Given the description of an element on the screen output the (x, y) to click on. 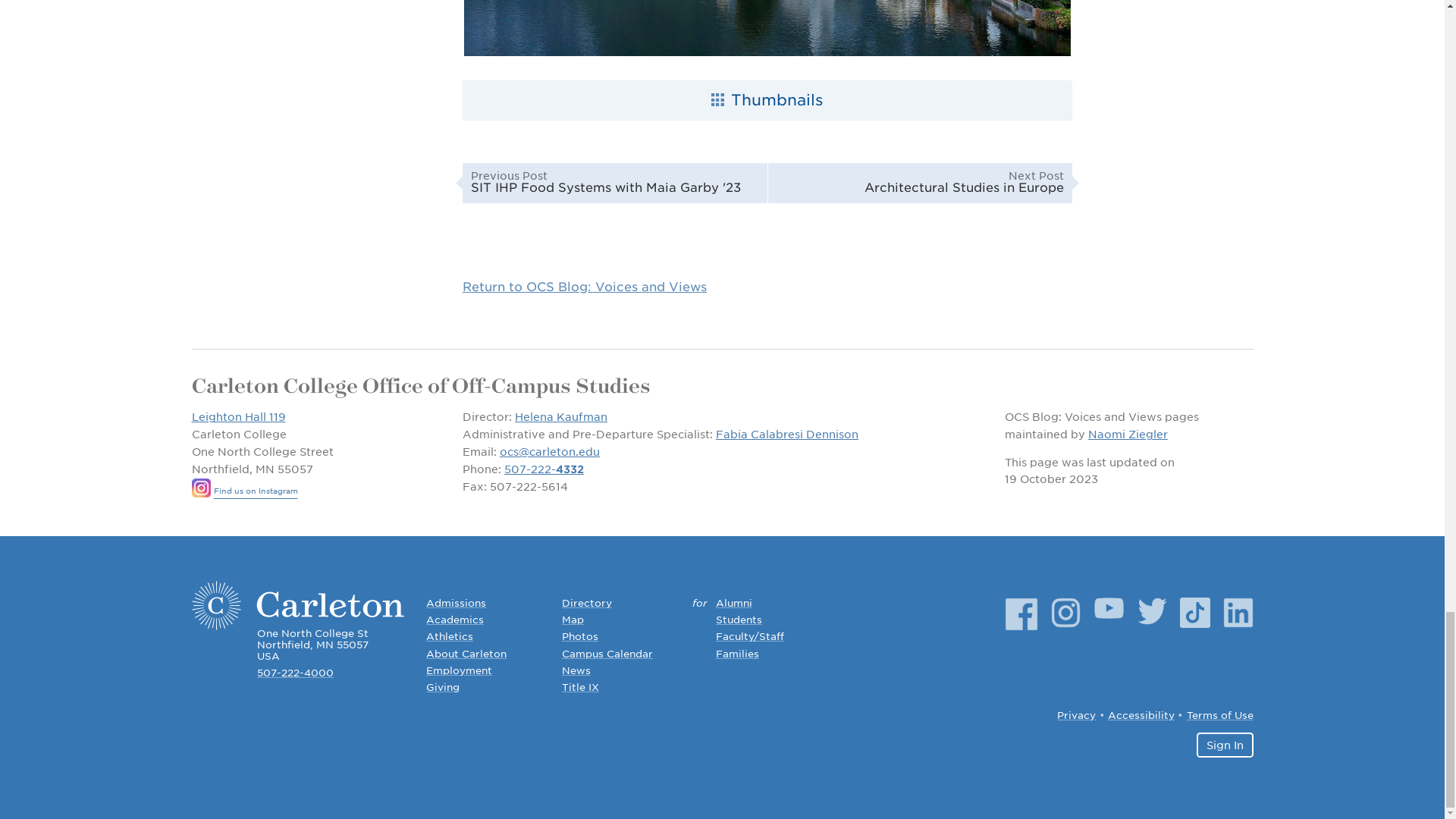
Return to OCS Blog: Voices and Views (584, 287)
Thumbnails (615, 182)
